Given the description of an element on the screen output the (x, y) to click on. 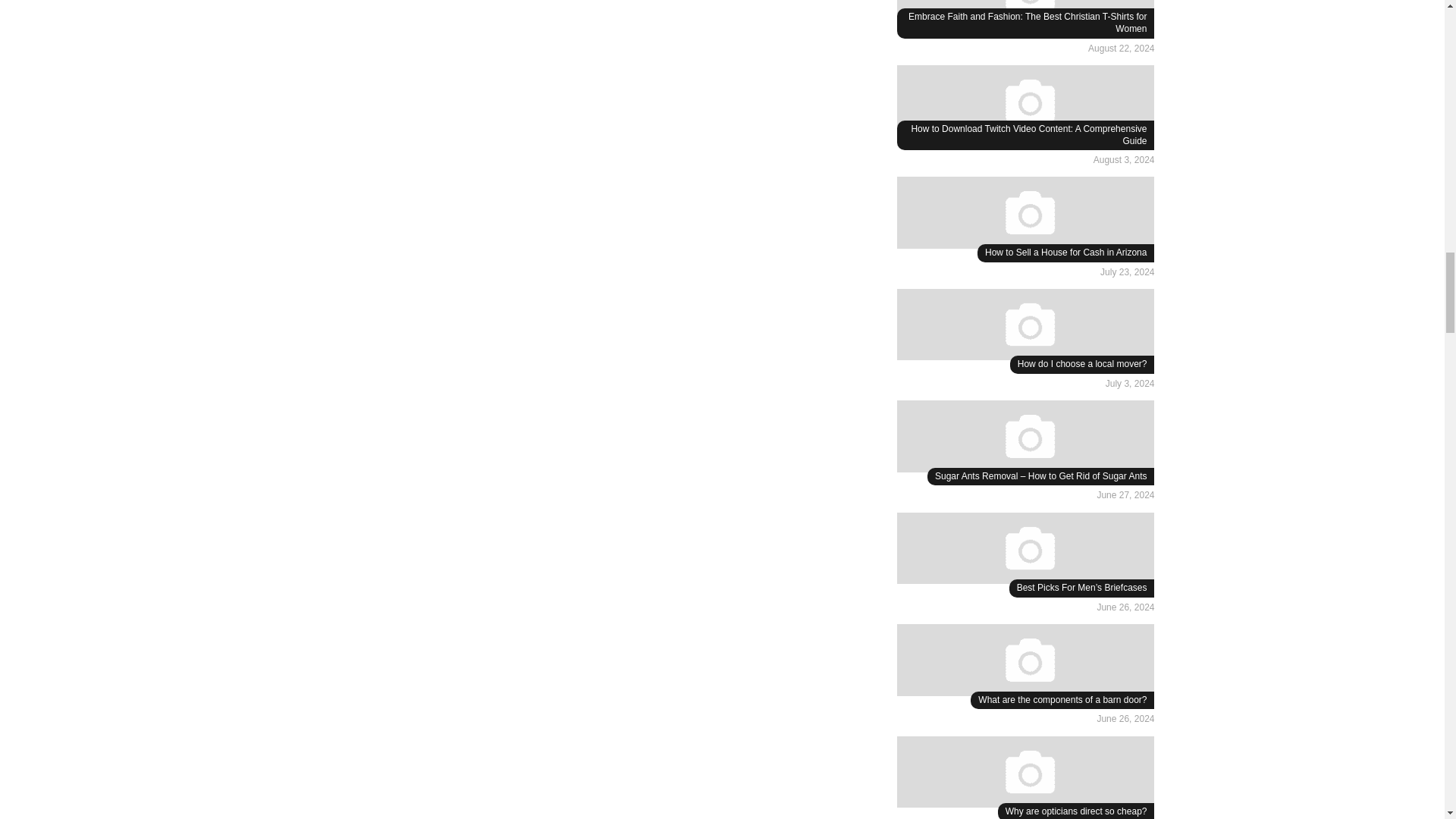
How do I choose a local mover? (1025, 327)
How to Sell a House for Cash in Arizona (1066, 252)
How do I choose a local mover? (1082, 363)
How do I choose a local mover? (1082, 363)
How to Download Twitch Video Content: A Comprehensive Guide (1029, 134)
How to Sell a House for Cash in Arizona (1025, 214)
How to Sell a House for Cash in Arizona (1066, 252)
How to Download Twitch Video Content: A Comprehensive Guide (1029, 134)
